Given the description of an element on the screen output the (x, y) to click on. 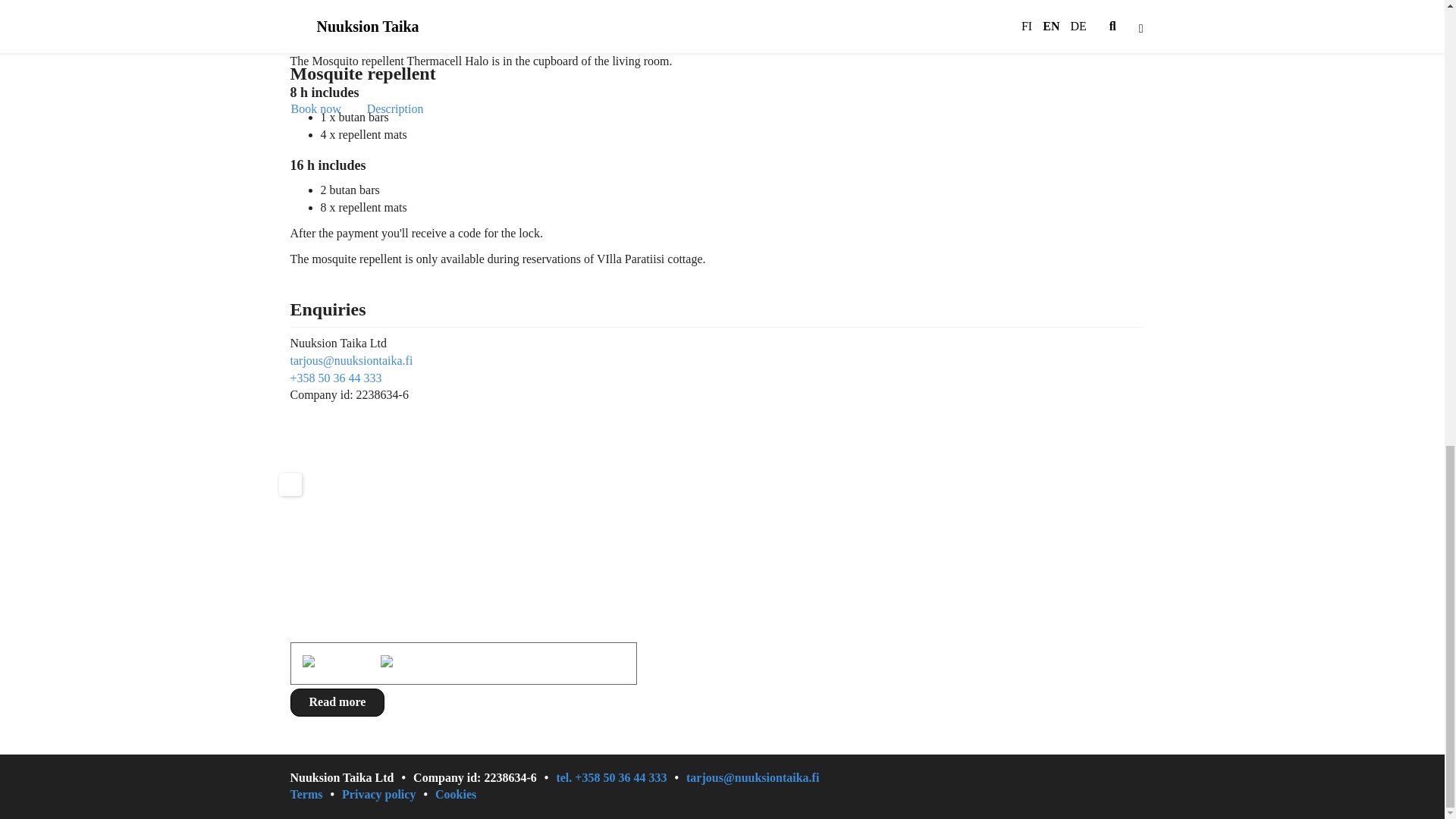
Accomodation and Sauna by the Lake (744, 509)
OUR PARTNERS (1035, 521)
Cookies (455, 794)
ADDITIONAL SERVICES (744, 538)
Privacy policy (388, 794)
Read more (336, 702)
Terms (315, 794)
SLEEPING OPTIONS (1048, 503)
PROGRAMS (876, 521)
